Given the description of an element on the screen output the (x, y) to click on. 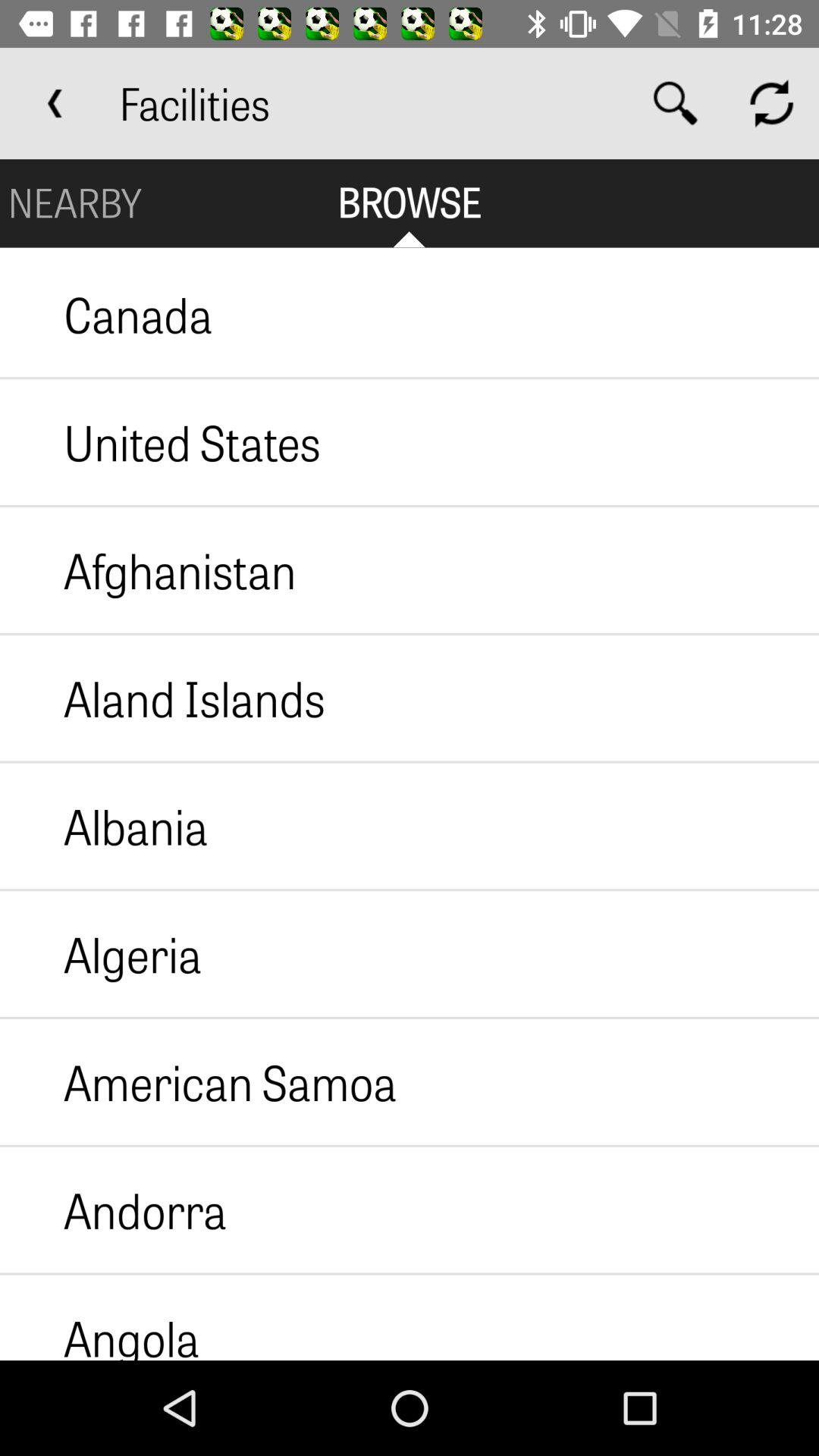
open icon above the angola icon (113, 1209)
